Given the description of an element on the screen output the (x, y) to click on. 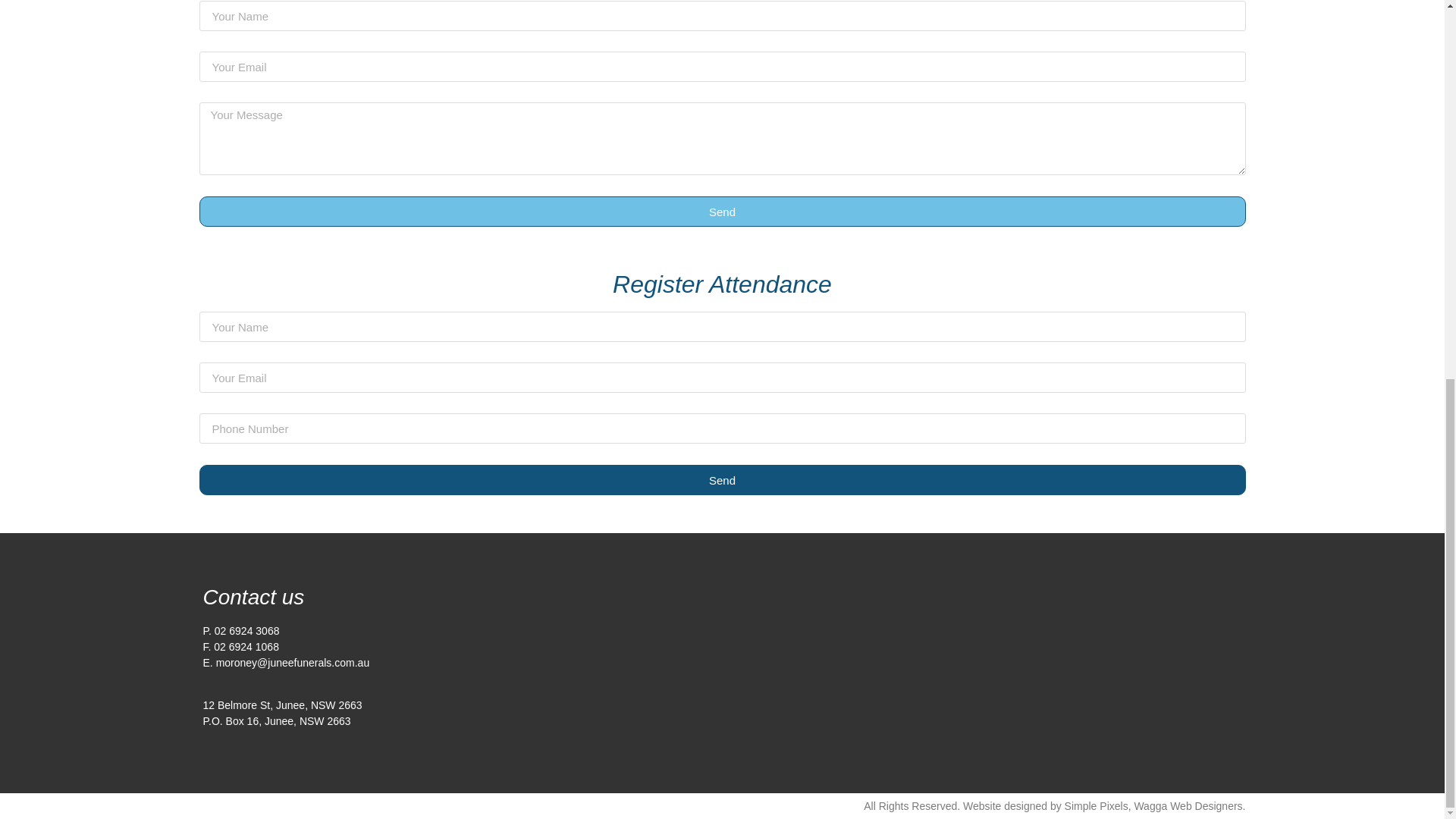
02 6924 1068 (246, 646)
Send (721, 211)
Simple Pixels (1096, 806)
Send (721, 480)
02 6924 3068 (246, 630)
